Given the description of an element on the screen output the (x, y) to click on. 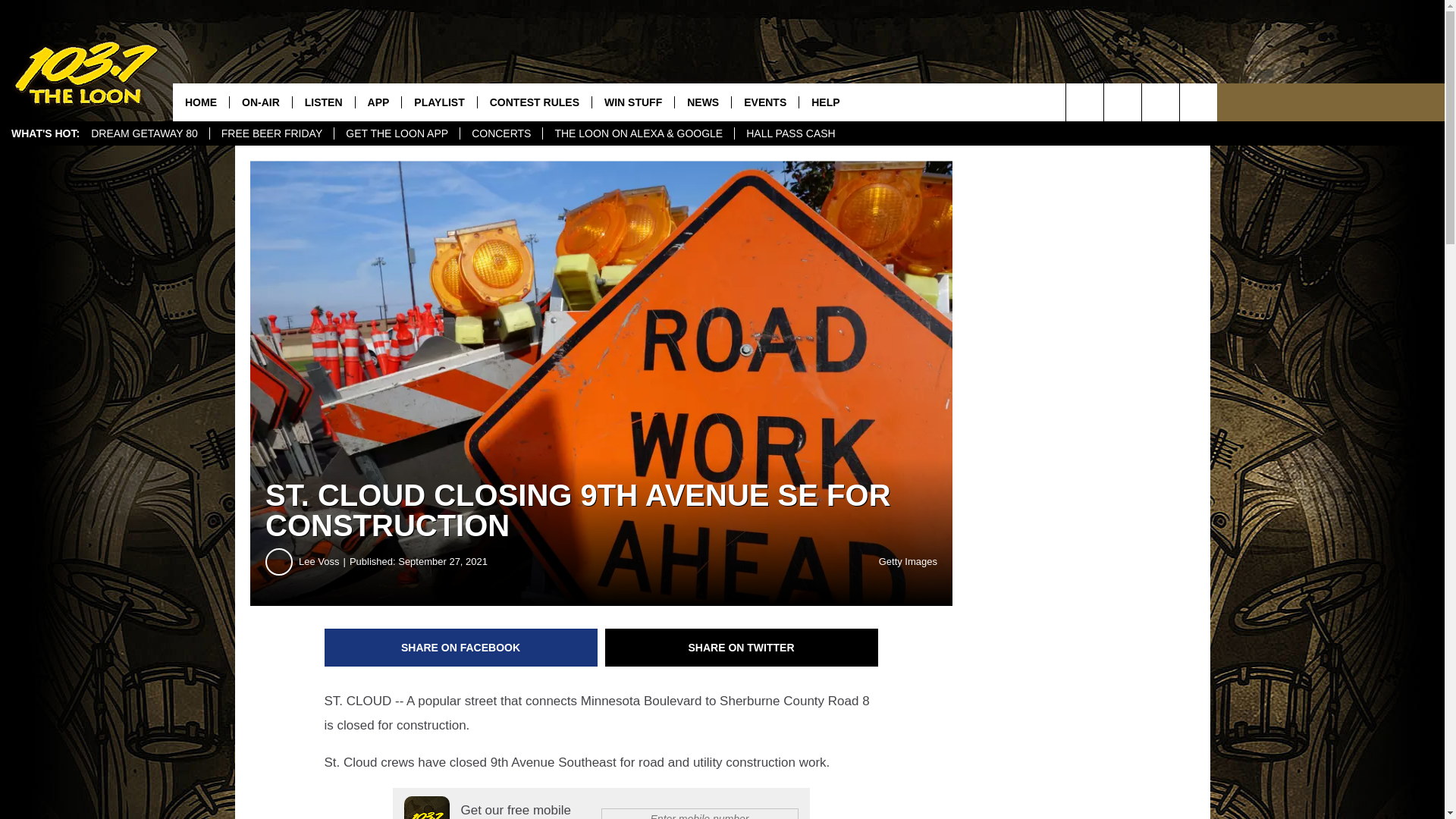
GET THE LOON APP (396, 133)
DREAM GETAWAY 80 (144, 133)
FREE BEER FRIDAY (271, 133)
PLAYLIST (438, 102)
CONTEST RULES (534, 102)
Share on Twitter (741, 647)
NEWS (702, 102)
LISTEN (323, 102)
ON-AIR (260, 102)
HALL PASS CASH (790, 133)
